Given the description of an element on the screen output the (x, y) to click on. 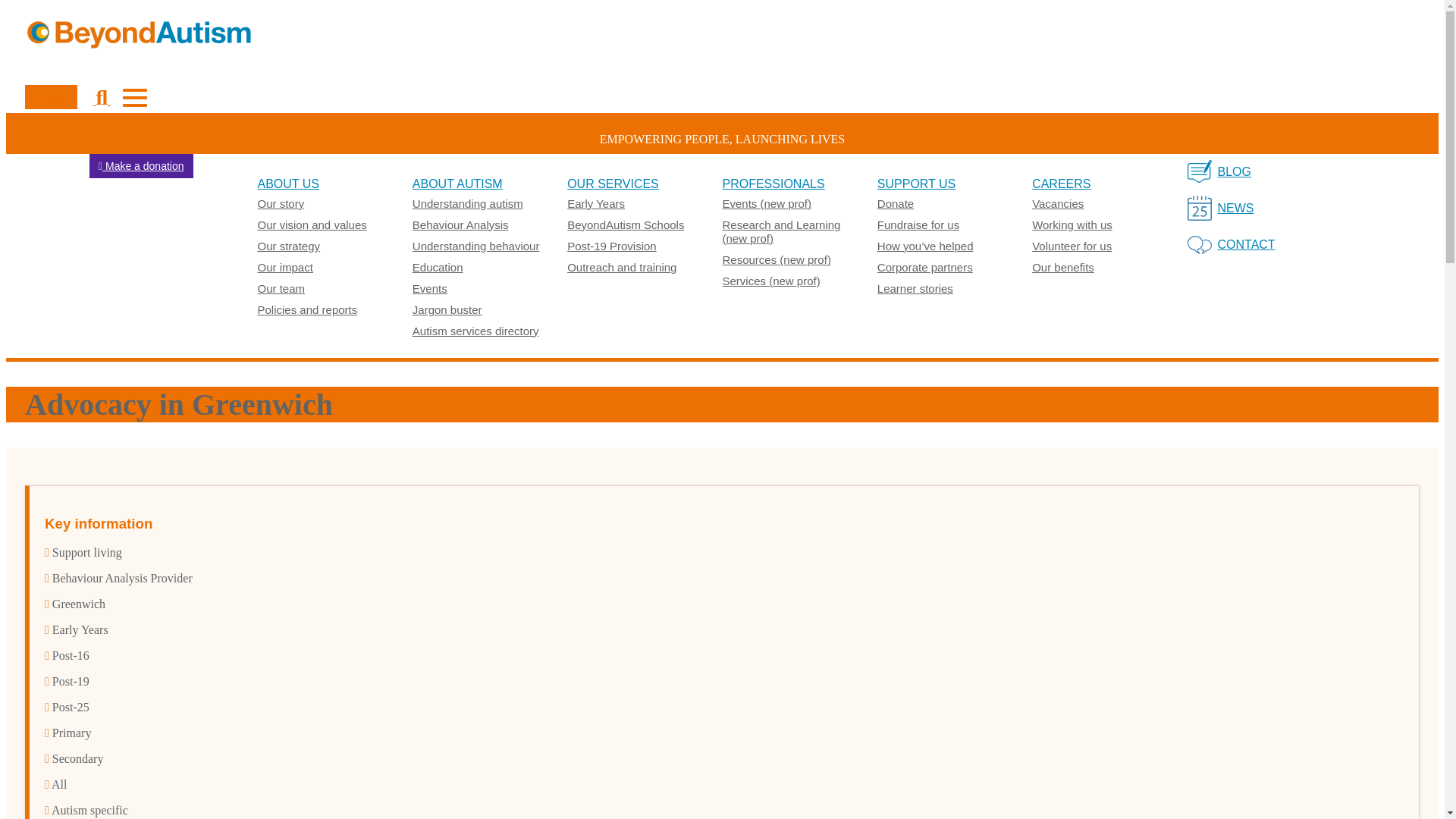
Early Years (595, 203)
CAREERS (1061, 183)
Learner stories (915, 287)
Fundraise for us (918, 224)
Donate (50, 96)
Outreach and training (622, 267)
Beyond Autism (721, 32)
Corporate partners (924, 267)
BeyondAutism Schools (625, 224)
Make a donation (140, 165)
Jargon buster (446, 309)
Understanding autism (467, 203)
Events (429, 287)
Autism services directory (475, 330)
Vacancies (1057, 203)
